Given the description of an element on the screen output the (x, y) to click on. 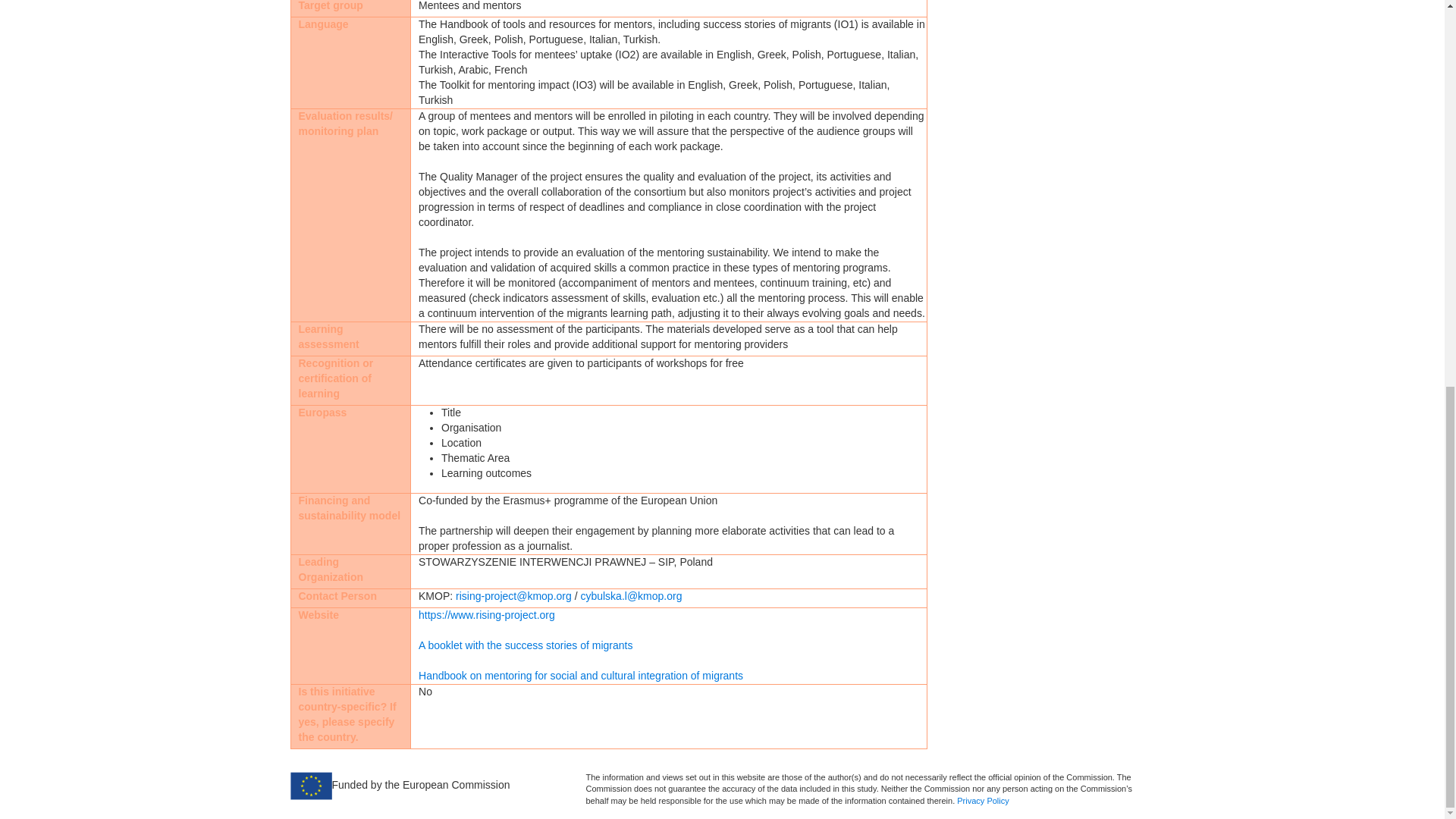
A booklet with the success stories of migrants (525, 645)
Privacy Policy (982, 800)
